Given the description of an element on the screen output the (x, y) to click on. 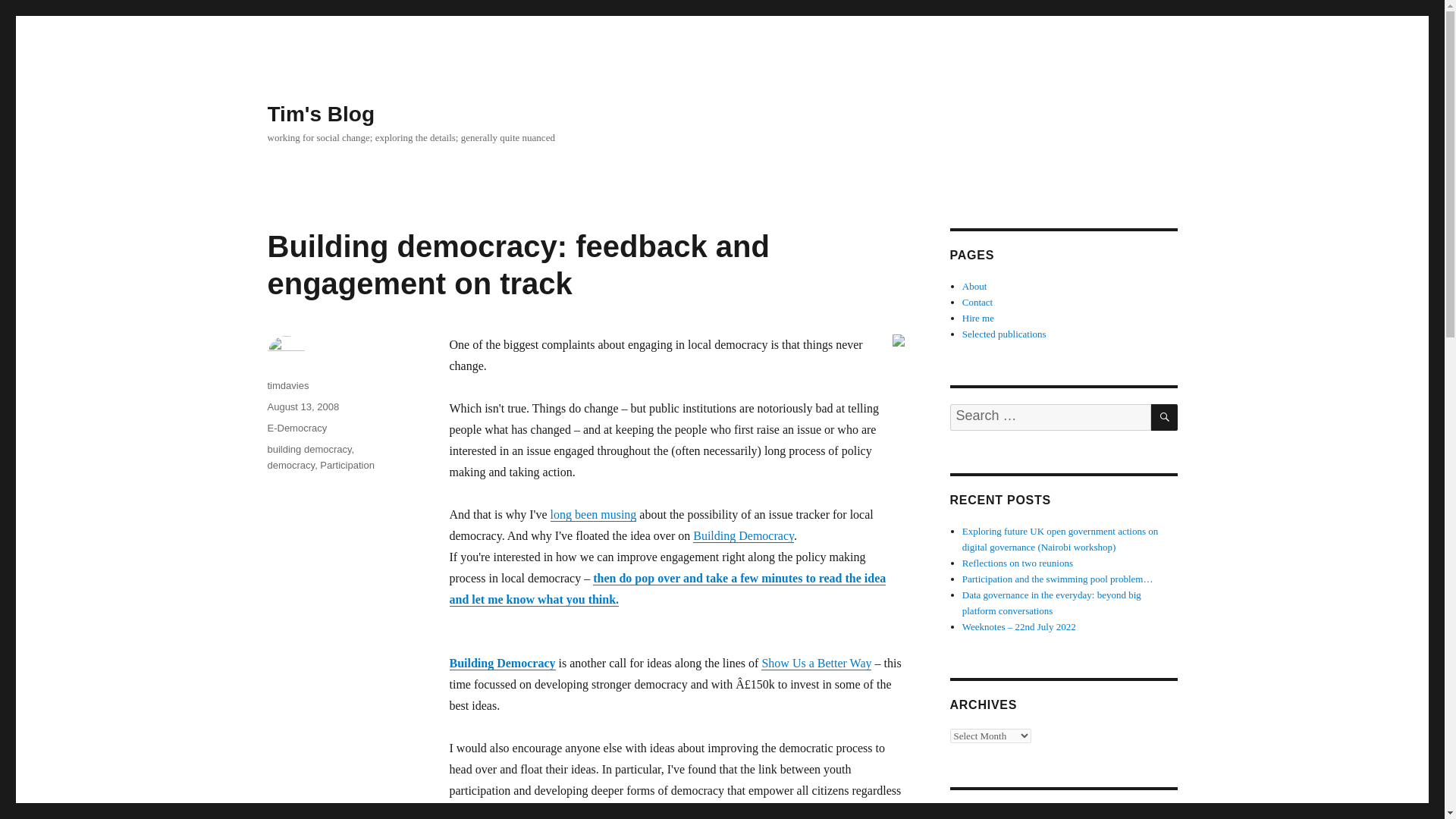
Selected publications (1004, 333)
democracy (290, 464)
About (974, 285)
SEARCH (1164, 417)
E-Democracy (296, 428)
Participation (347, 464)
August 13, 2008 (302, 406)
Building Democracy (743, 535)
long been musing (593, 513)
